Given the description of an element on the screen output the (x, y) to click on. 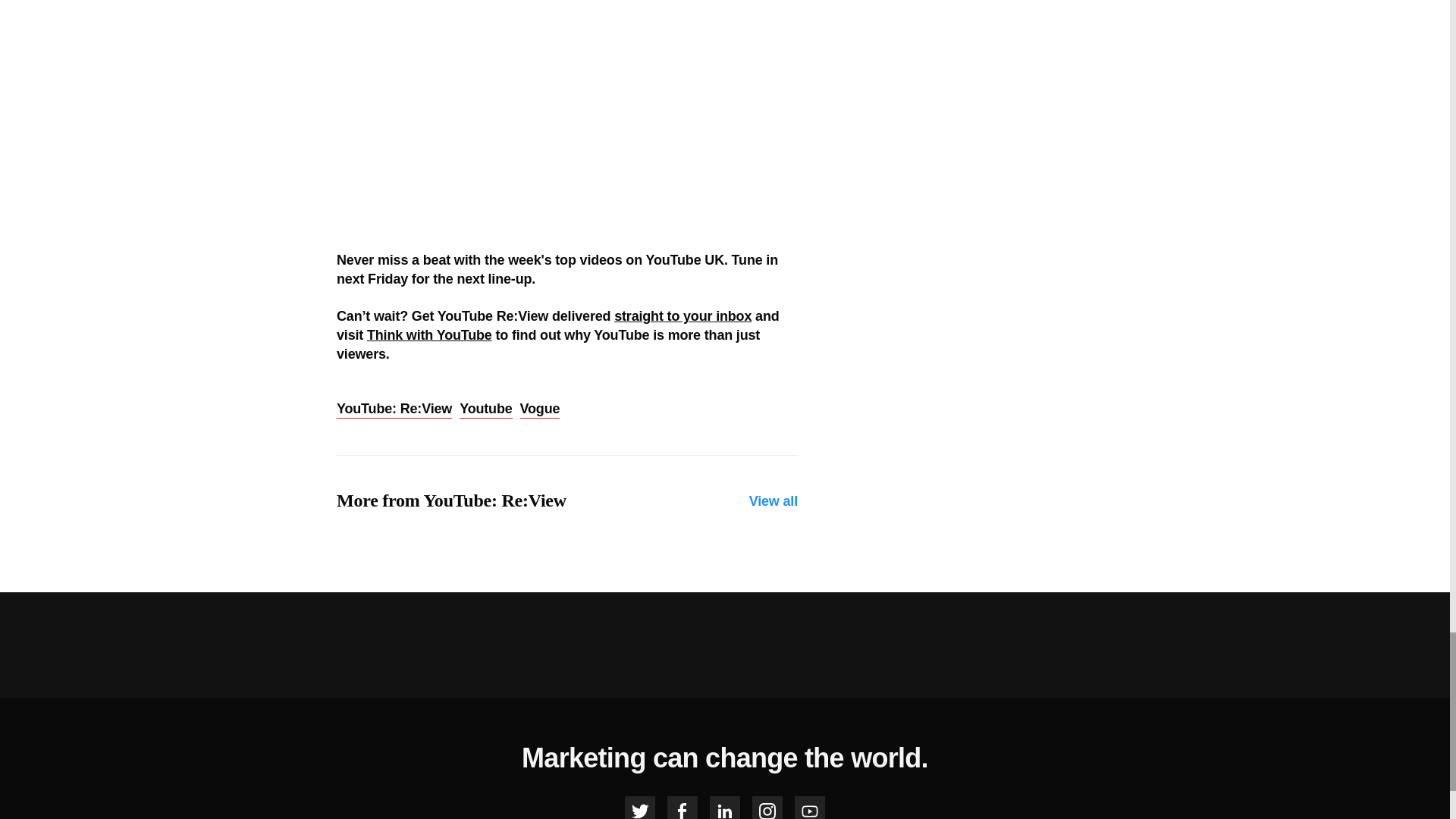
Vogue (539, 409)
straight to your inbox (682, 315)
Think with YouTube (429, 335)
View all (773, 501)
YouTube: Re:View (393, 409)
Youtube (486, 409)
